Given the description of an element on the screen output the (x, y) to click on. 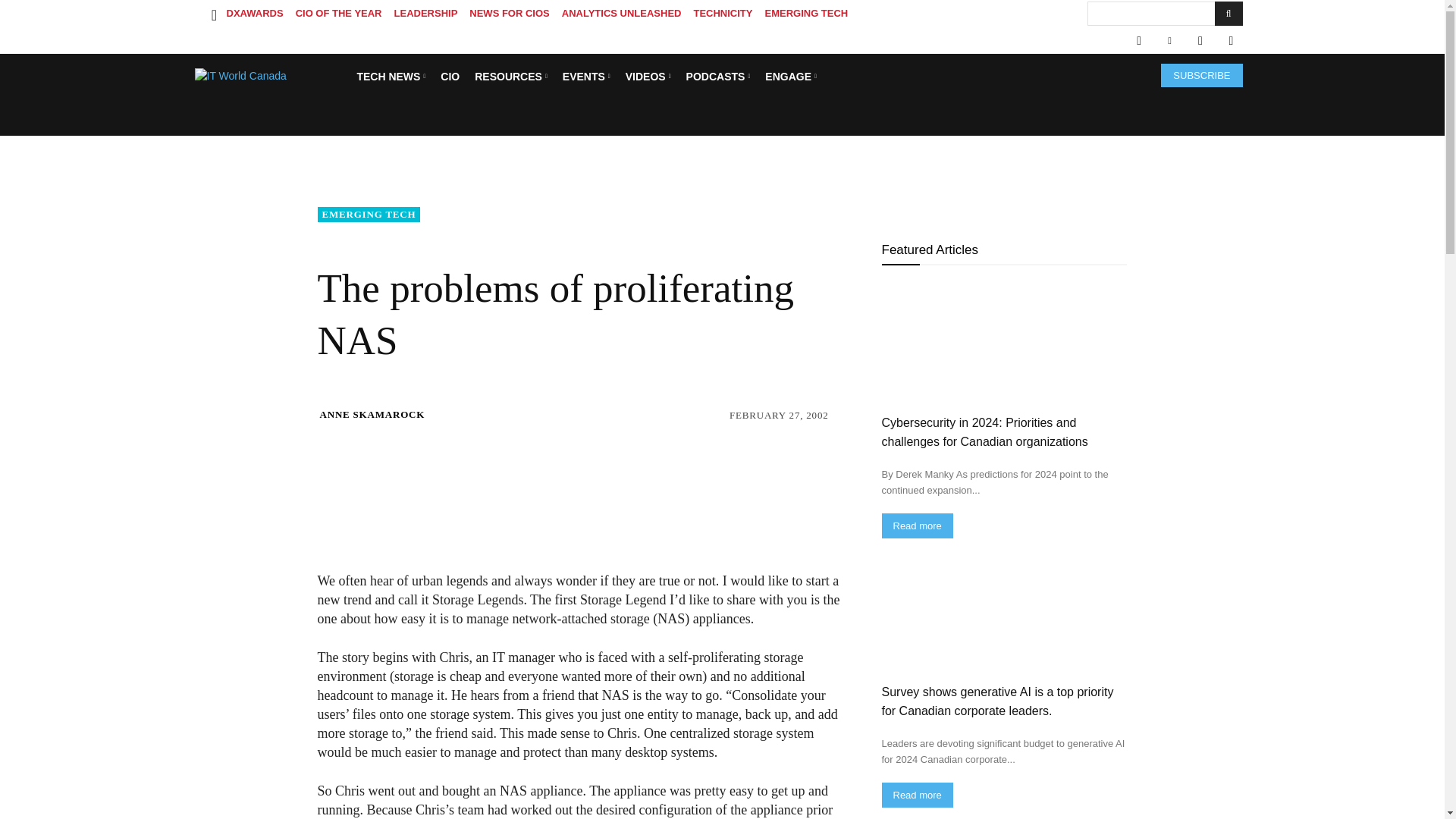
Facebook (1138, 40)
Youtube (1230, 40)
IT World Canada - IT News (269, 76)
Twitter (1200, 40)
Linkedin (1168, 40)
